Given the description of an element on the screen output the (x, y) to click on. 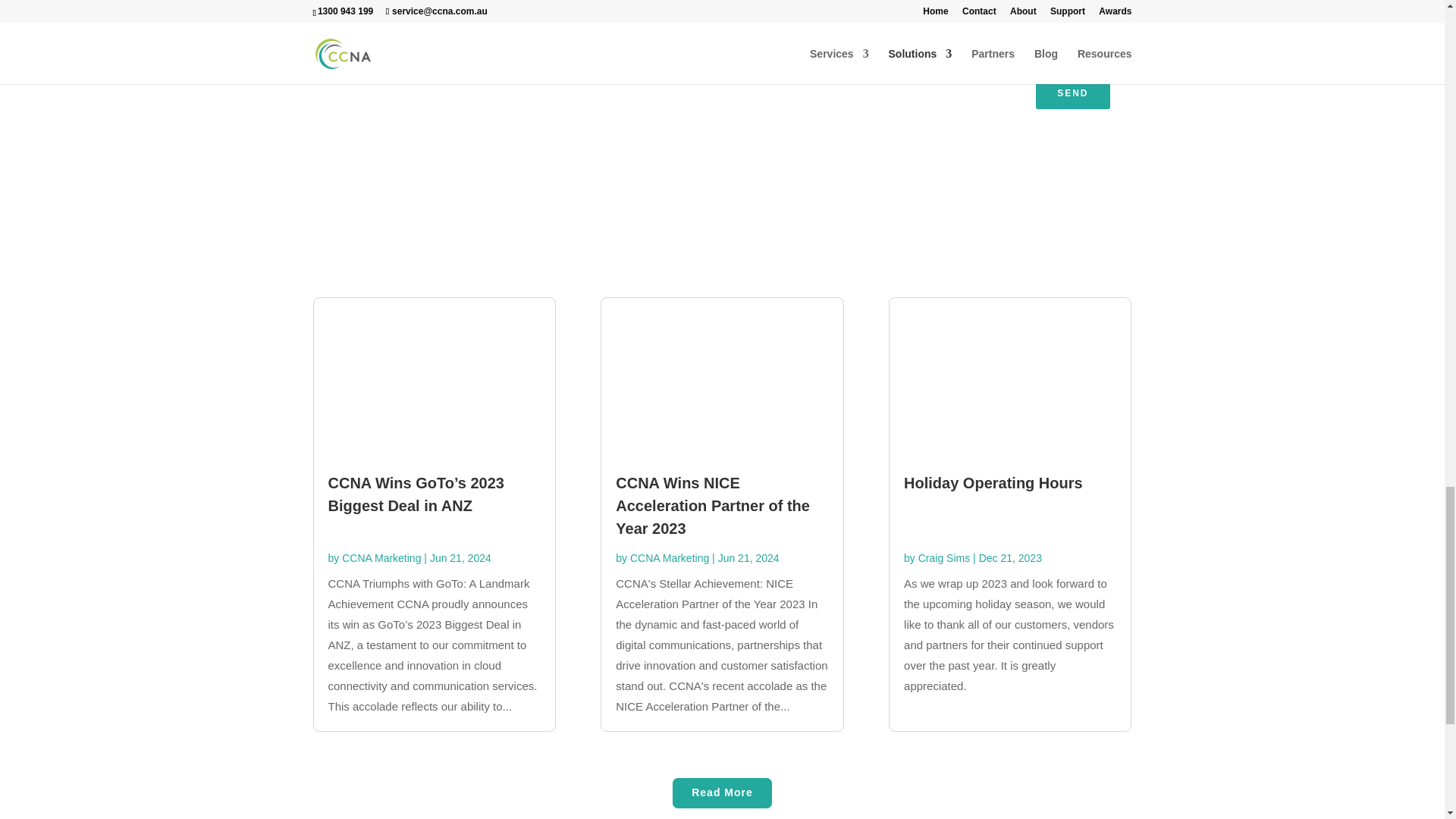
Send (1072, 92)
Posts by CCNA Marketing (381, 558)
Posts by CCNA Marketing (669, 558)
Posts by Craig Sims (943, 558)
